Given the description of an element on the screen output the (x, y) to click on. 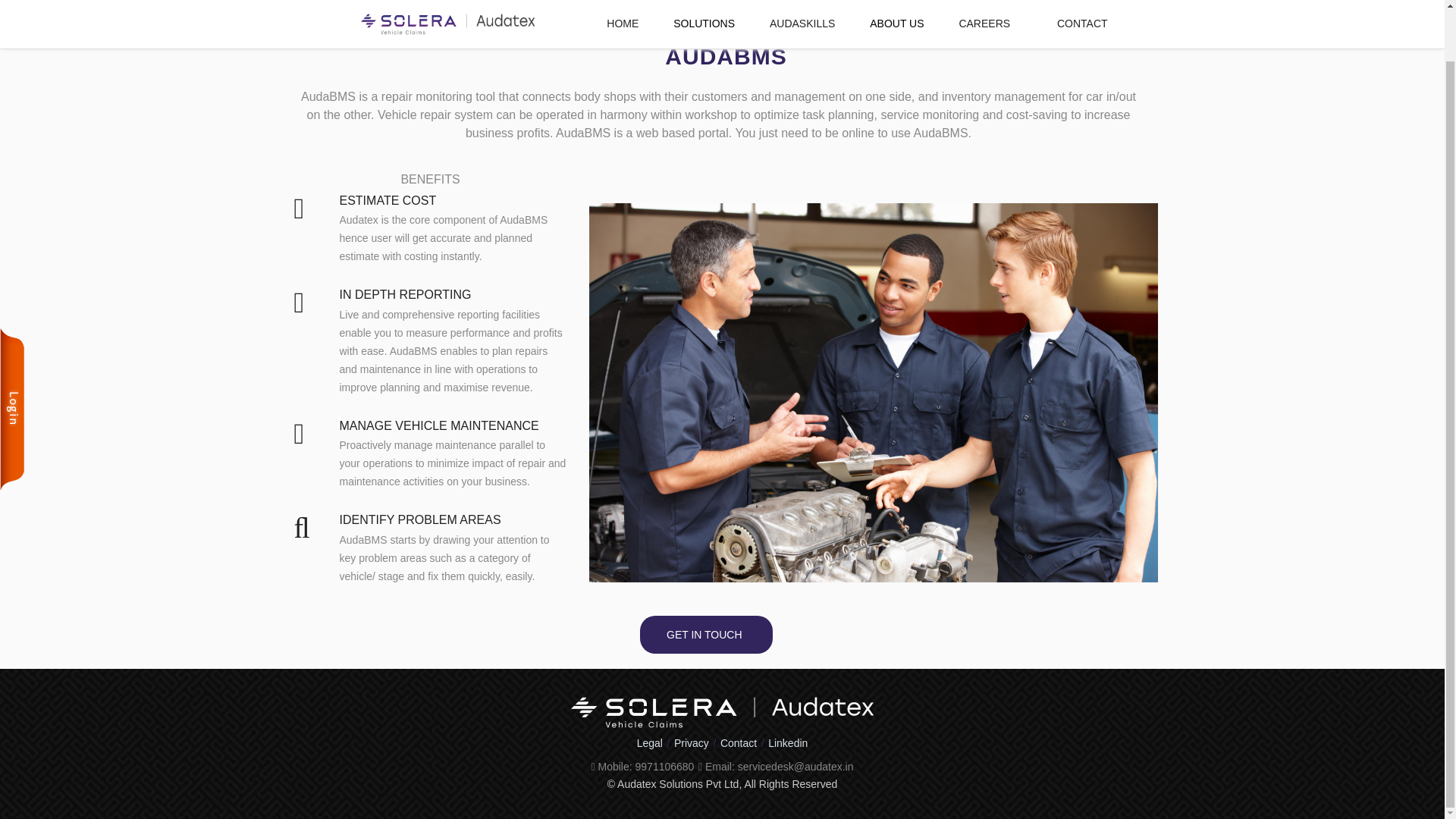
GET IN TOUCH (706, 634)
GET IN TOUCH (705, 634)
Linkedin (788, 741)
Privacy (691, 741)
Legal (649, 741)
Contact (738, 741)
